Given the description of an element on the screen output the (x, y) to click on. 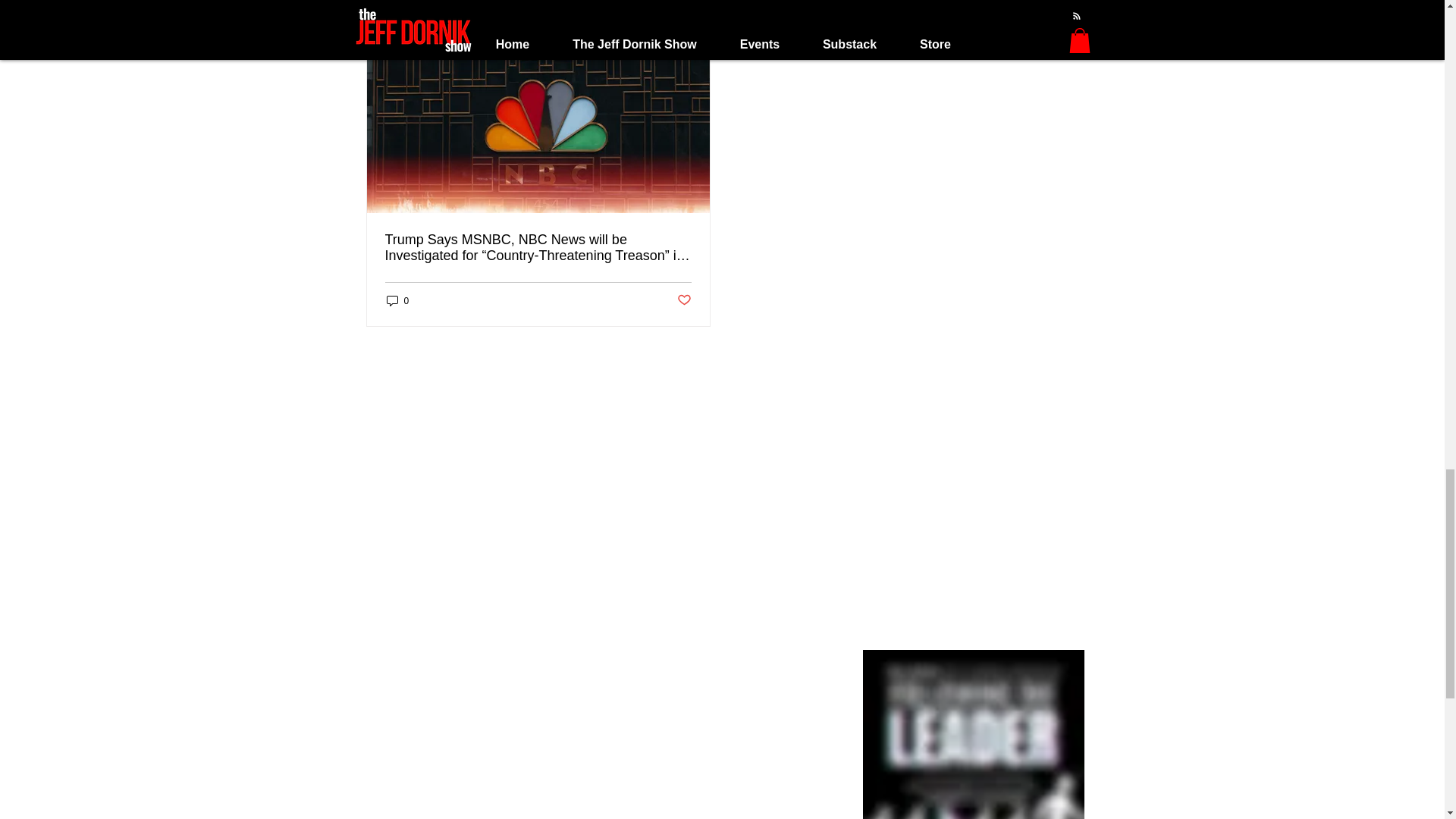
See All (818, 2)
Post not marked as liked (683, 300)
0 (397, 300)
